Given the description of an element on the screen output the (x, y) to click on. 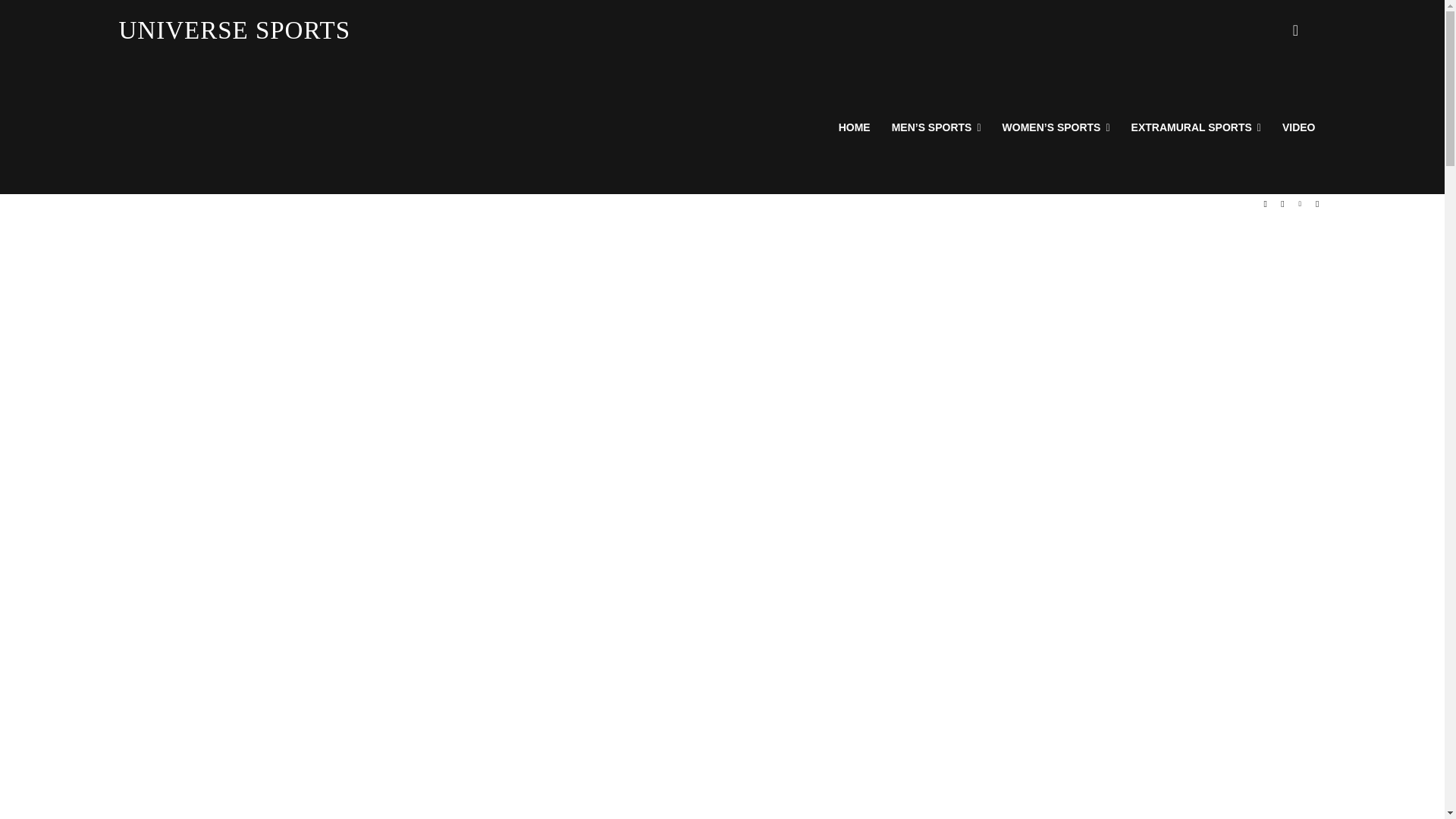
Youtube (1317, 203)
Twitter (1299, 203)
Instagram (1282, 203)
Facebook (1265, 203)
